Given the description of an element on the screen output the (x, y) to click on. 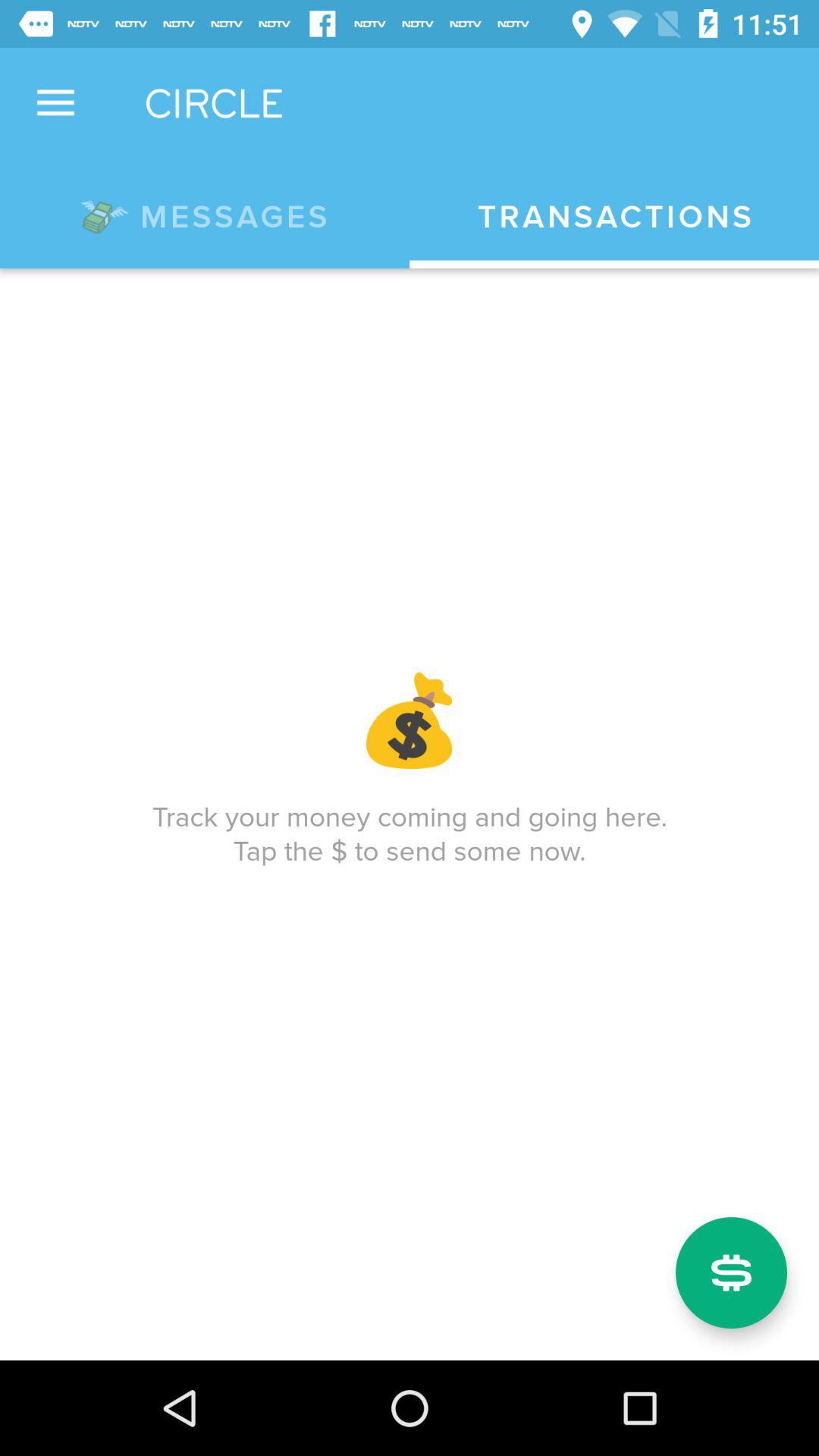
tap the transactions at the top right corner (614, 217)
